Given the description of an element on the screen output the (x, y) to click on. 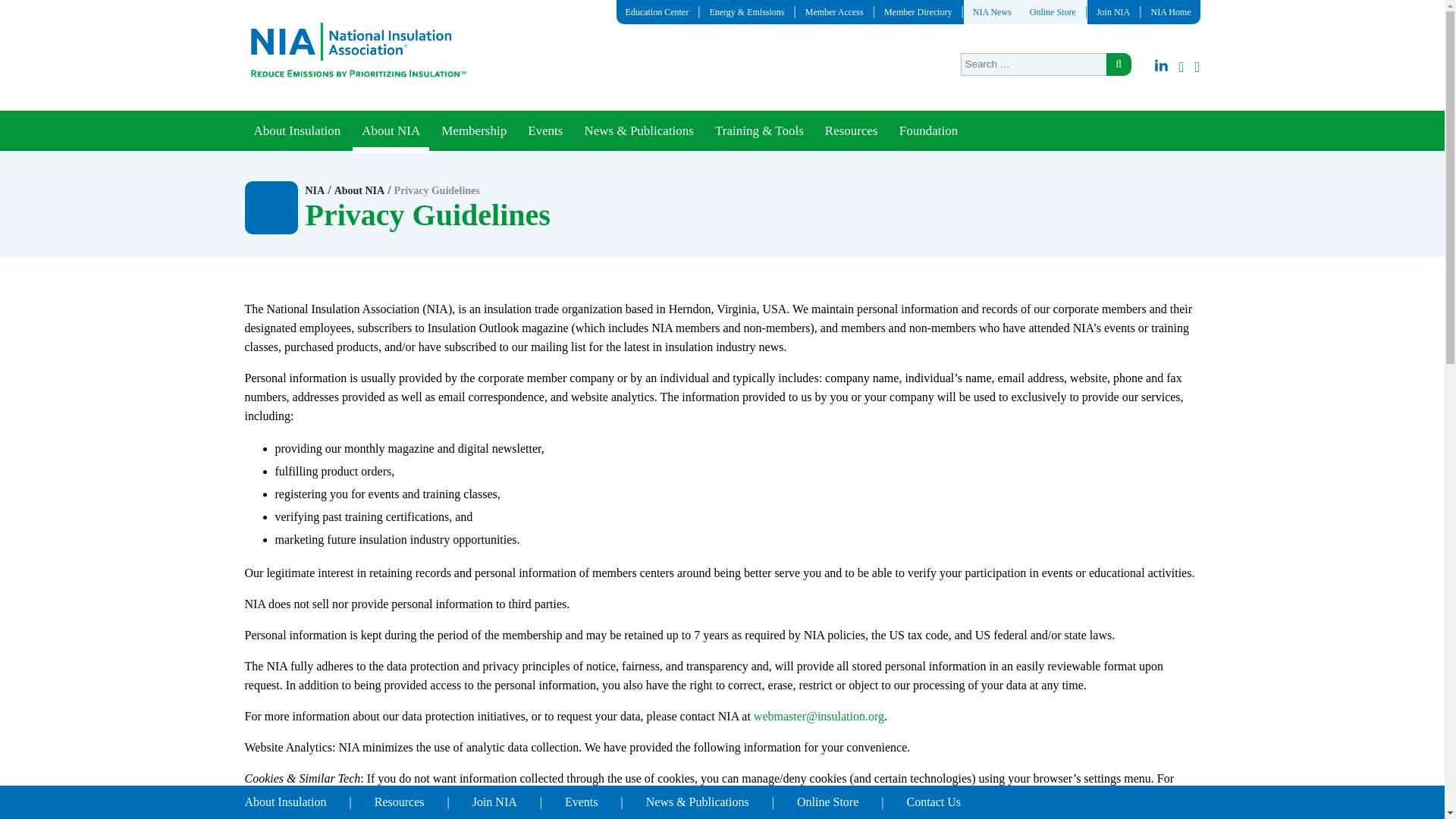
Go to About NIA. (359, 190)
Online Store (1052, 11)
Membership (473, 130)
About Insulation (296, 130)
Join NIA (1112, 11)
NIA News (991, 11)
Go to NIA. (314, 190)
Education Center (656, 11)
Member Access (834, 11)
Search for: (1043, 64)
Member Directory (917, 11)
NIA Home (1170, 11)
About NIA (390, 130)
